Given the description of an element on the screen output the (x, y) to click on. 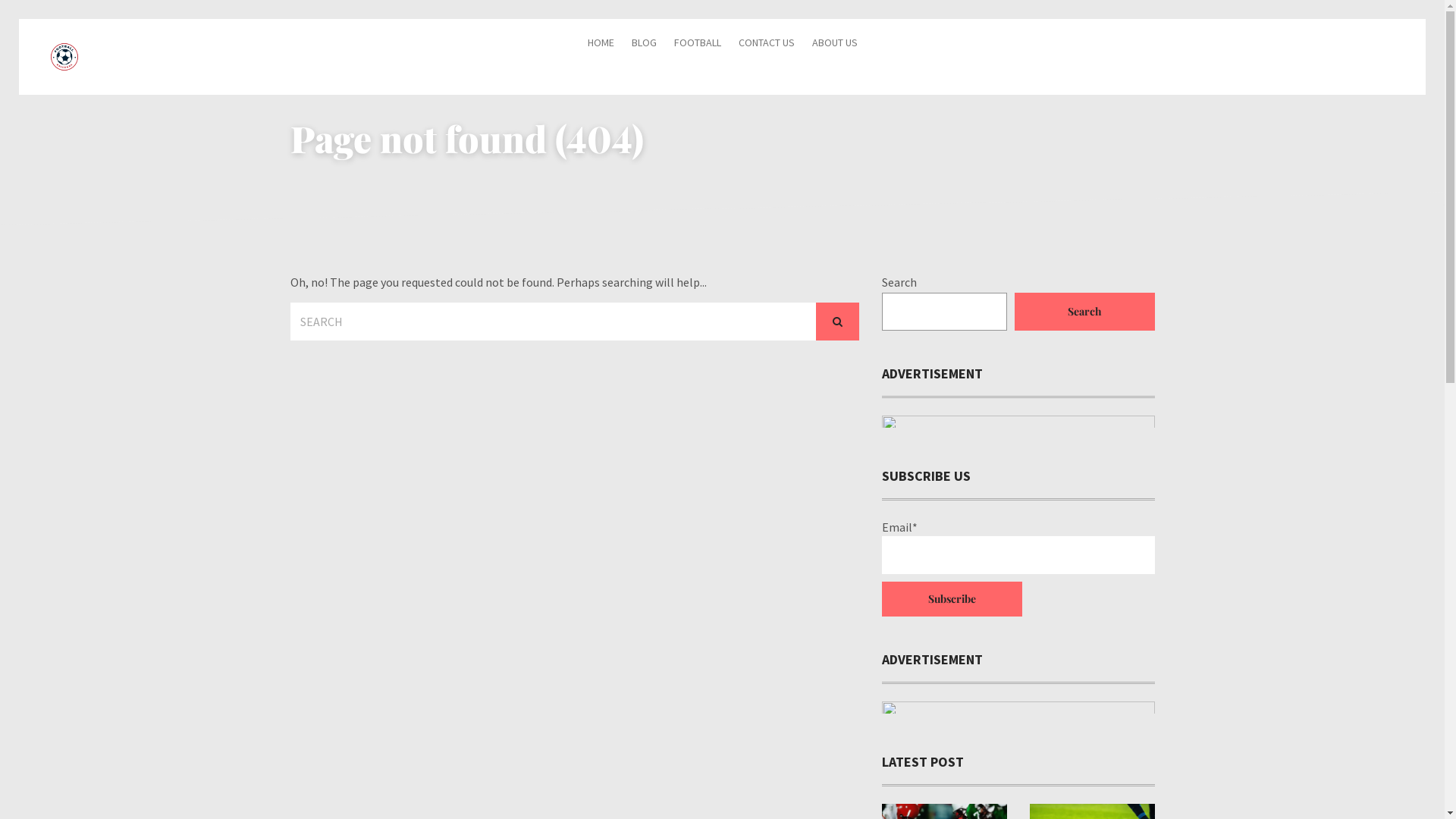
ABOUT US Element type: text (833, 41)
FOOTBALL Element type: text (696, 41)
GO Element type: text (837, 321)
CONTACT US Element type: text (766, 41)
HOME Element type: text (599, 41)
BLOG Element type: text (642, 41)
Search Element type: text (1084, 311)
Subscribe Element type: text (951, 598)
